Given the description of an element on the screen output the (x, y) to click on. 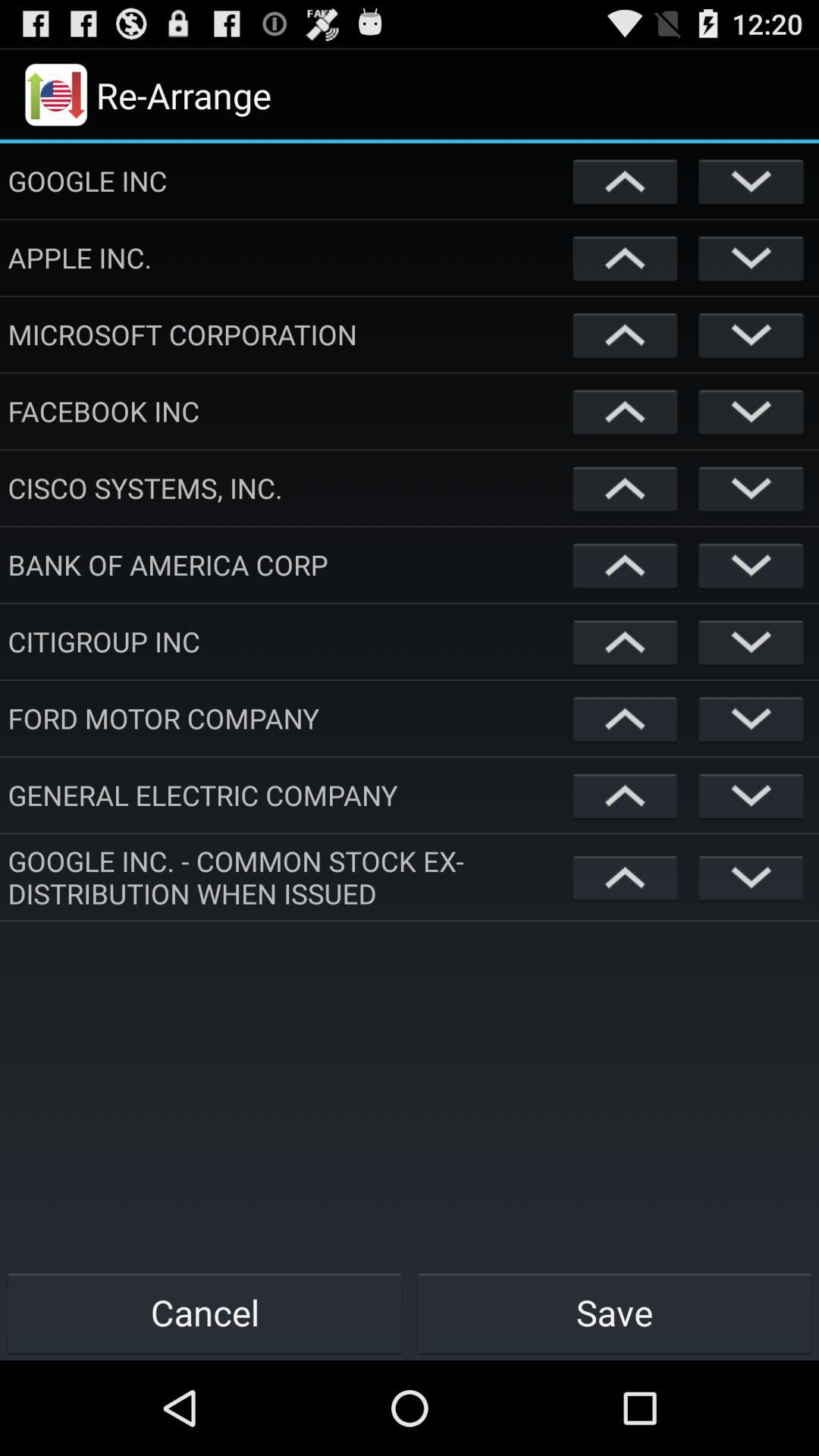
expand facebook inc (751, 411)
